Given the description of an element on the screen output the (x, y) to click on. 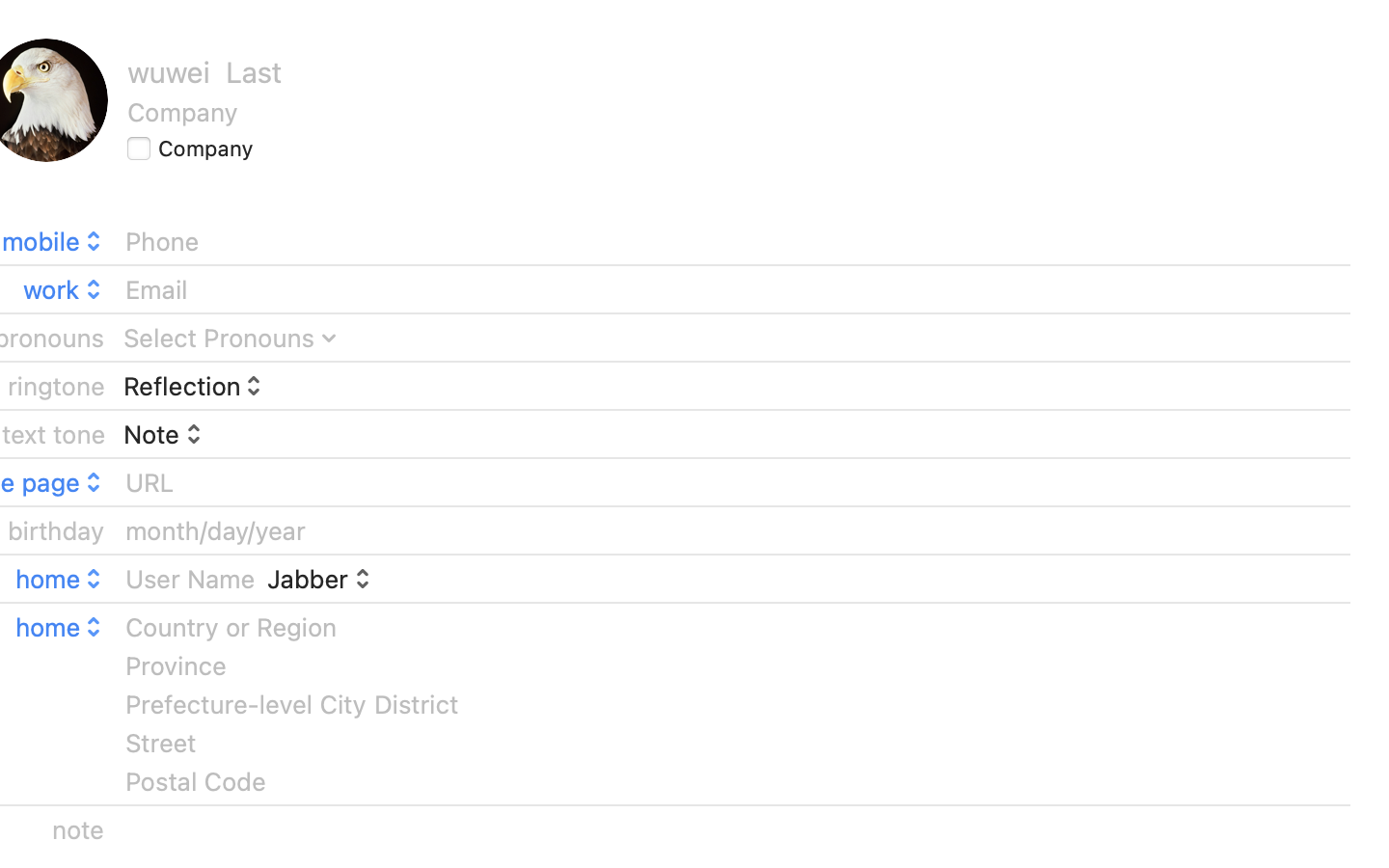
Note Element type: AXPopUpButton (164, 433)
Reflection Element type: AXPopUpButton (194, 385)
note Element type: AXStaticText (78, 828)
ringtone Element type: AXStaticText (56, 385)
